Given the description of an element on the screen output the (x, y) to click on. 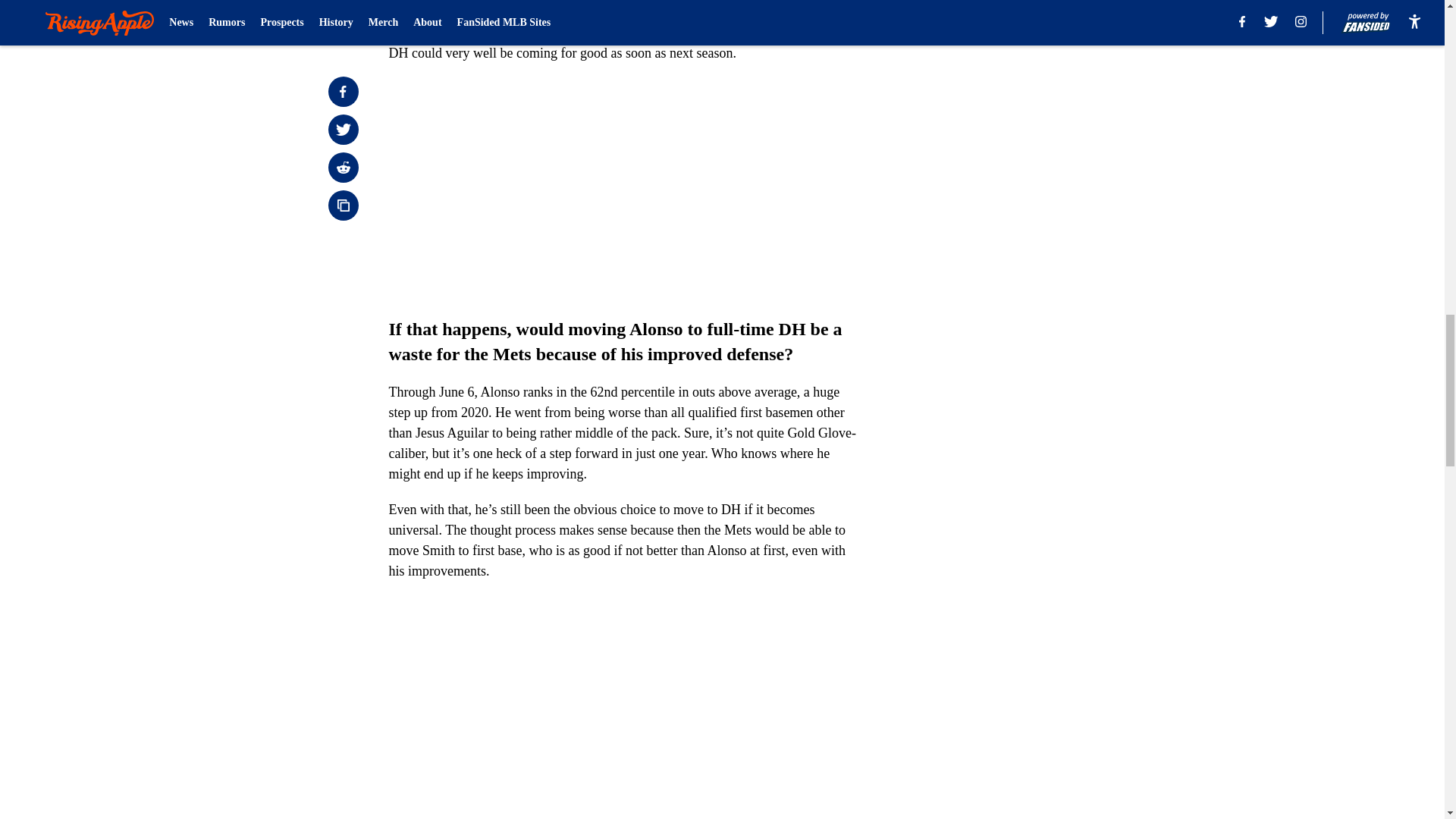
collective bargaining agreement set to expire (561, 32)
